Given the description of an element on the screen output the (x, y) to click on. 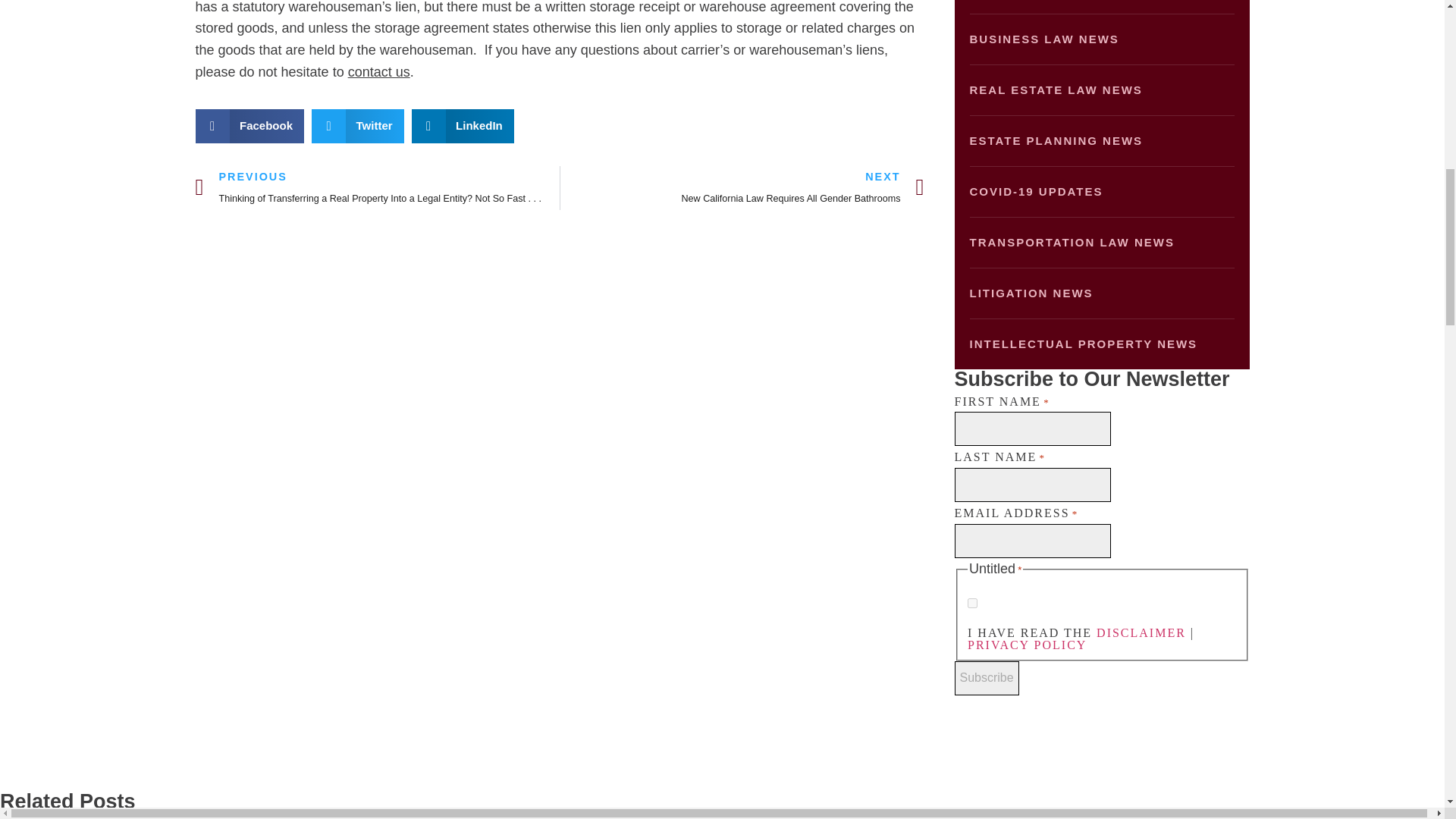
Subscribe (985, 677)
